Given the description of an element on the screen output the (x, y) to click on. 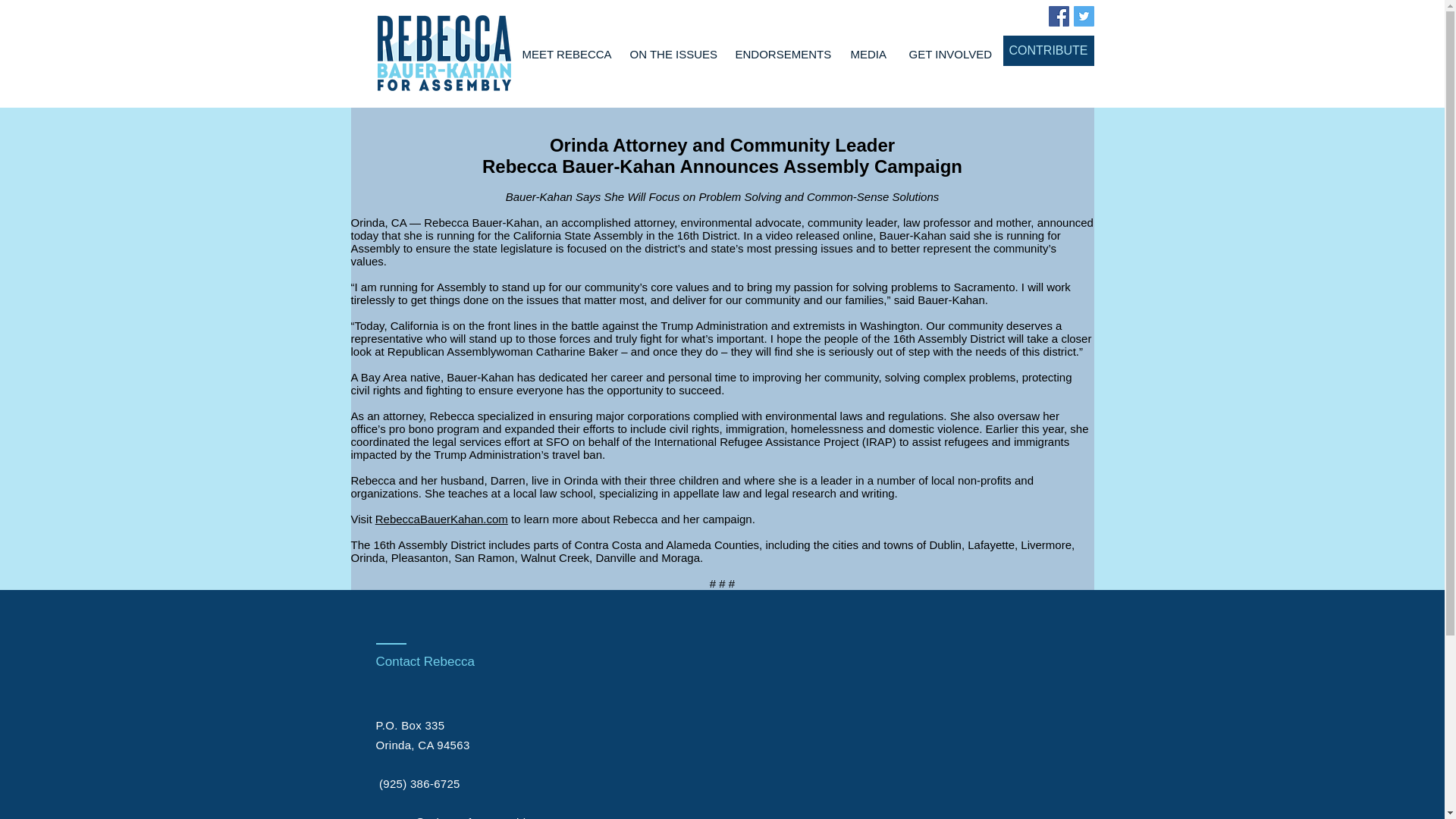
ENDORSEMENTS (780, 54)
ON THE ISSUES (670, 54)
MEET REBECCA (564, 54)
CONTRIBUTE (1048, 51)
GET INVOLVED (950, 54)
RebeccaBauerKahan.com (441, 518)
